Given the description of an element on the screen output the (x, y) to click on. 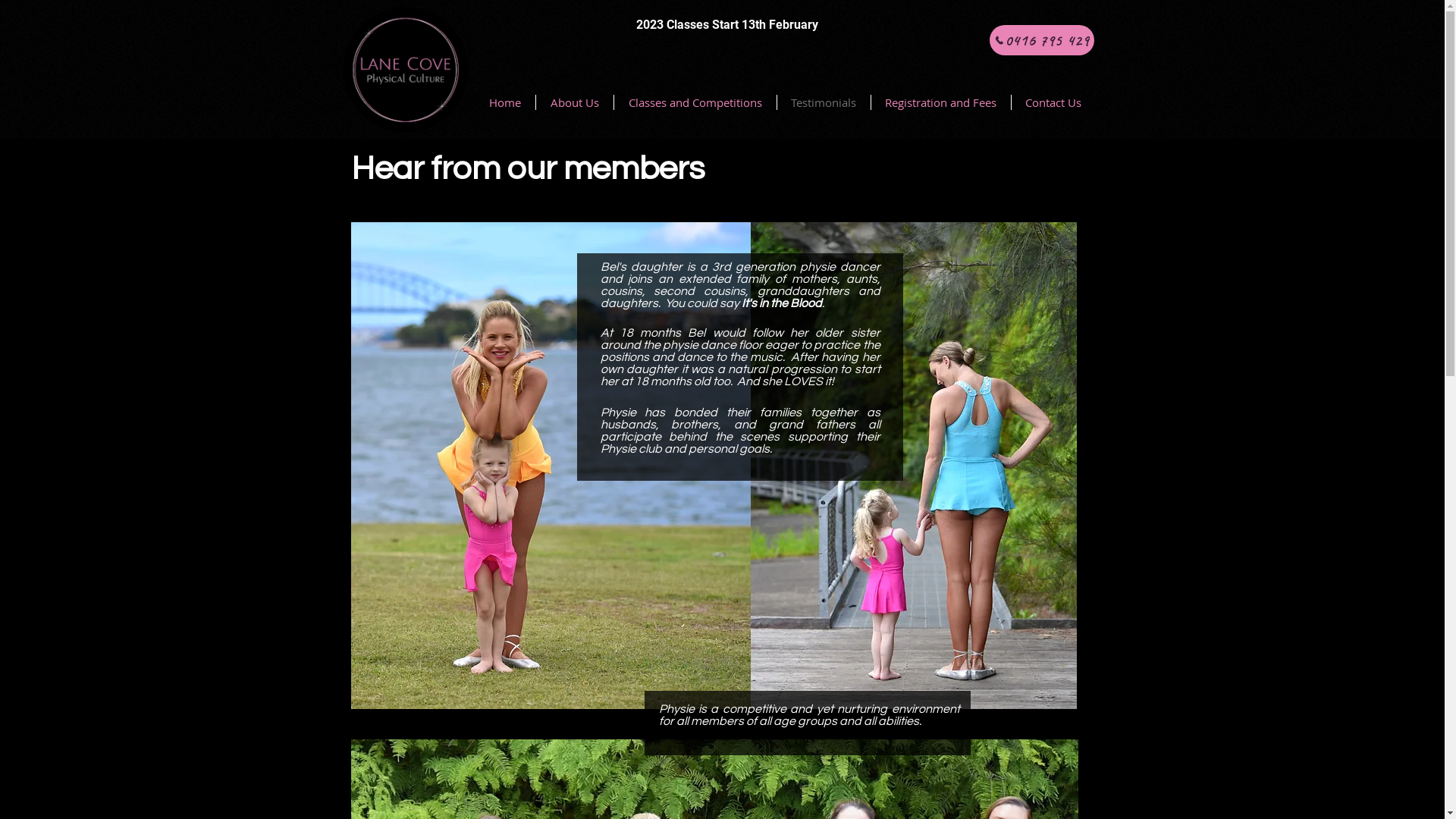
Home Element type: text (504, 101)
LCPCC Logo 2023.png Element type: hover (416, 80)
0416 795 429 Element type: text (1040, 40)
Testimonials Element type: text (822, 101)
Contact Us Element type: text (1053, 101)
